Given the description of an element on the screen output the (x, y) to click on. 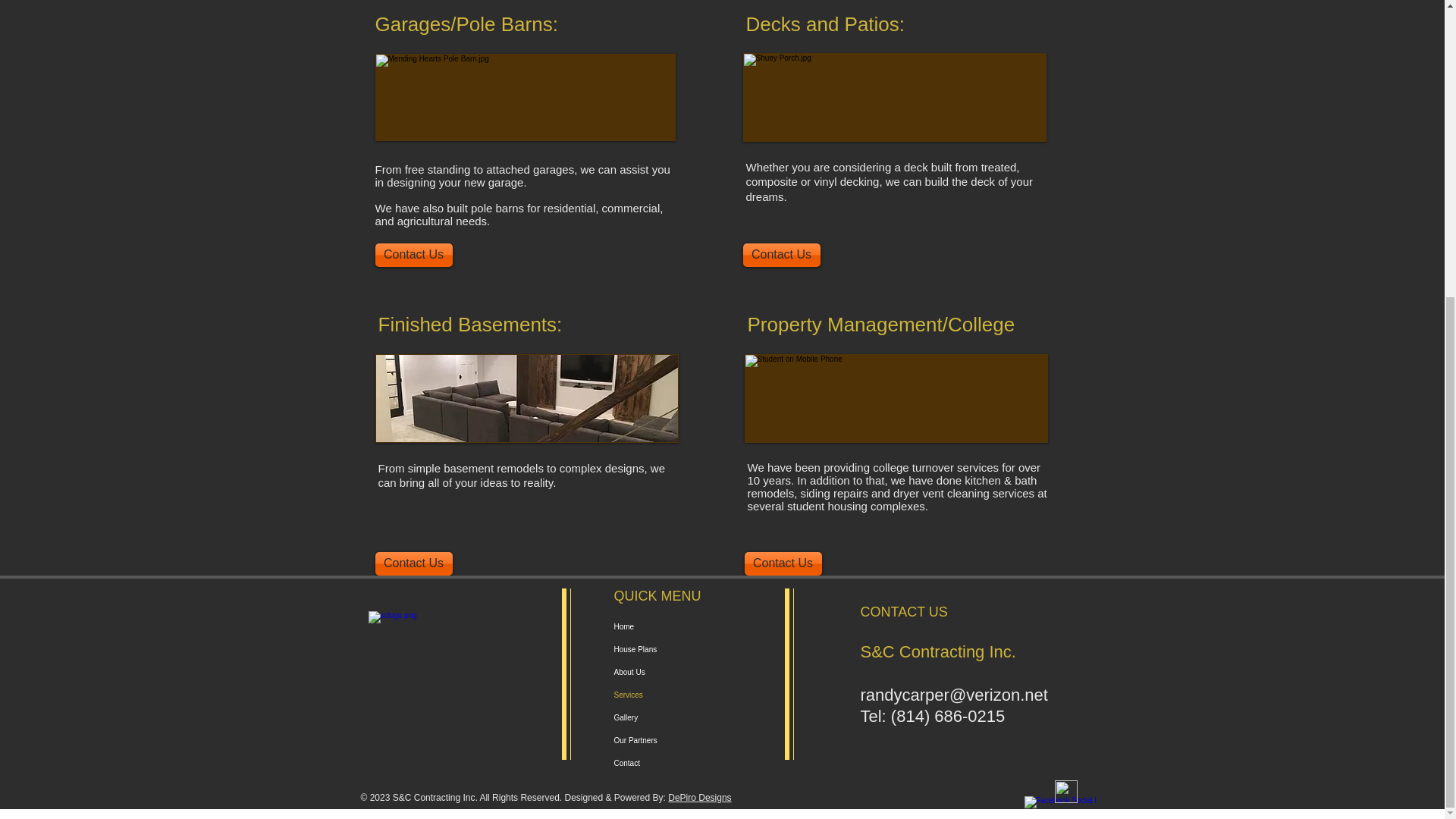
Contact (676, 763)
Our Partners (676, 740)
About Us (676, 671)
DePiro Designs (699, 797)
Contact Us (783, 563)
Contact Us (412, 254)
Gallery (676, 717)
Contact Us (412, 563)
Contact Us (781, 254)
House Plans (676, 649)
